Given the description of an element on the screen output the (x, y) to click on. 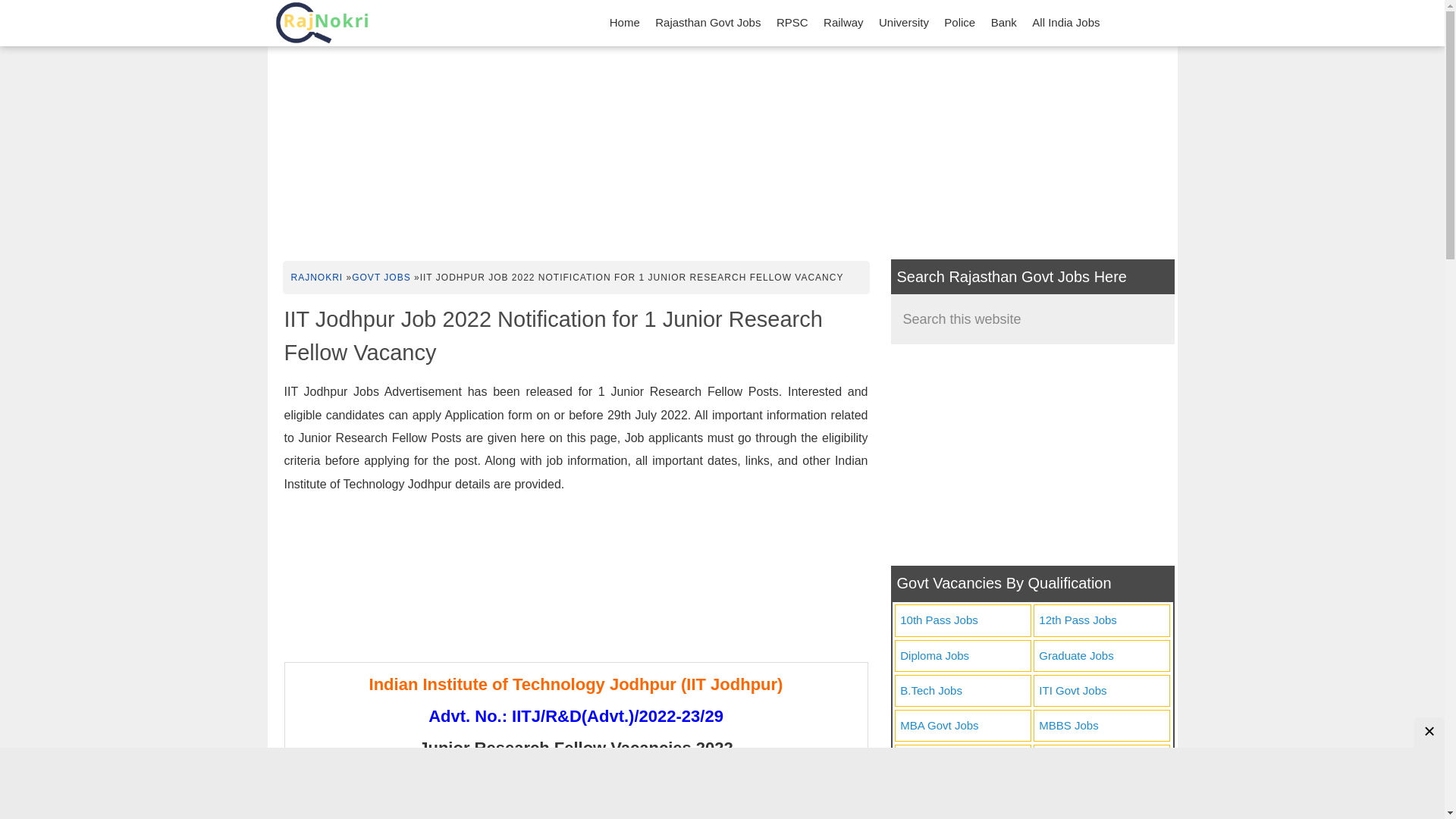
Police (959, 22)
Rajasthan Sarkari Naukri (320, 22)
Advertisement (575, 582)
GOVT JOBS (381, 276)
Rajasthan Govt Jobs (708, 22)
RPSC (791, 22)
Advertisement (1031, 454)
All India Jobs (1065, 22)
University (903, 22)
Railway (842, 22)
RAJNOKRI (317, 276)
Home (625, 22)
Bank (1004, 22)
